Given the description of an element on the screen output the (x, y) to click on. 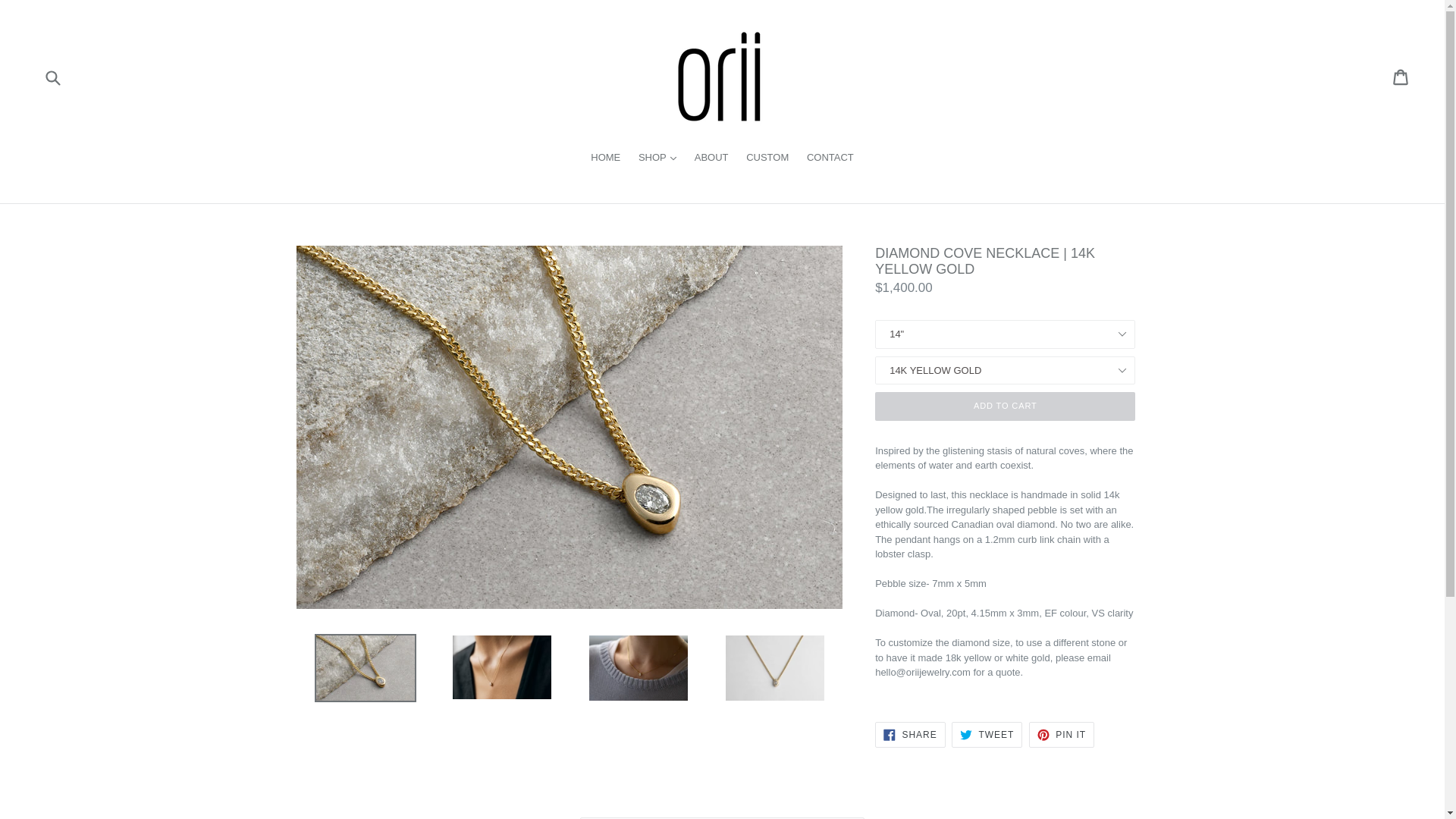
ADD TO CART (909, 734)
Tweet on Twitter (1005, 406)
Share on Facebook (987, 734)
Pin on Pinterest (909, 734)
CUSTOM (1061, 734)
ABOUT (1061, 734)
HOME (767, 158)
CONTACT (987, 734)
